Given the description of an element on the screen output the (x, y) to click on. 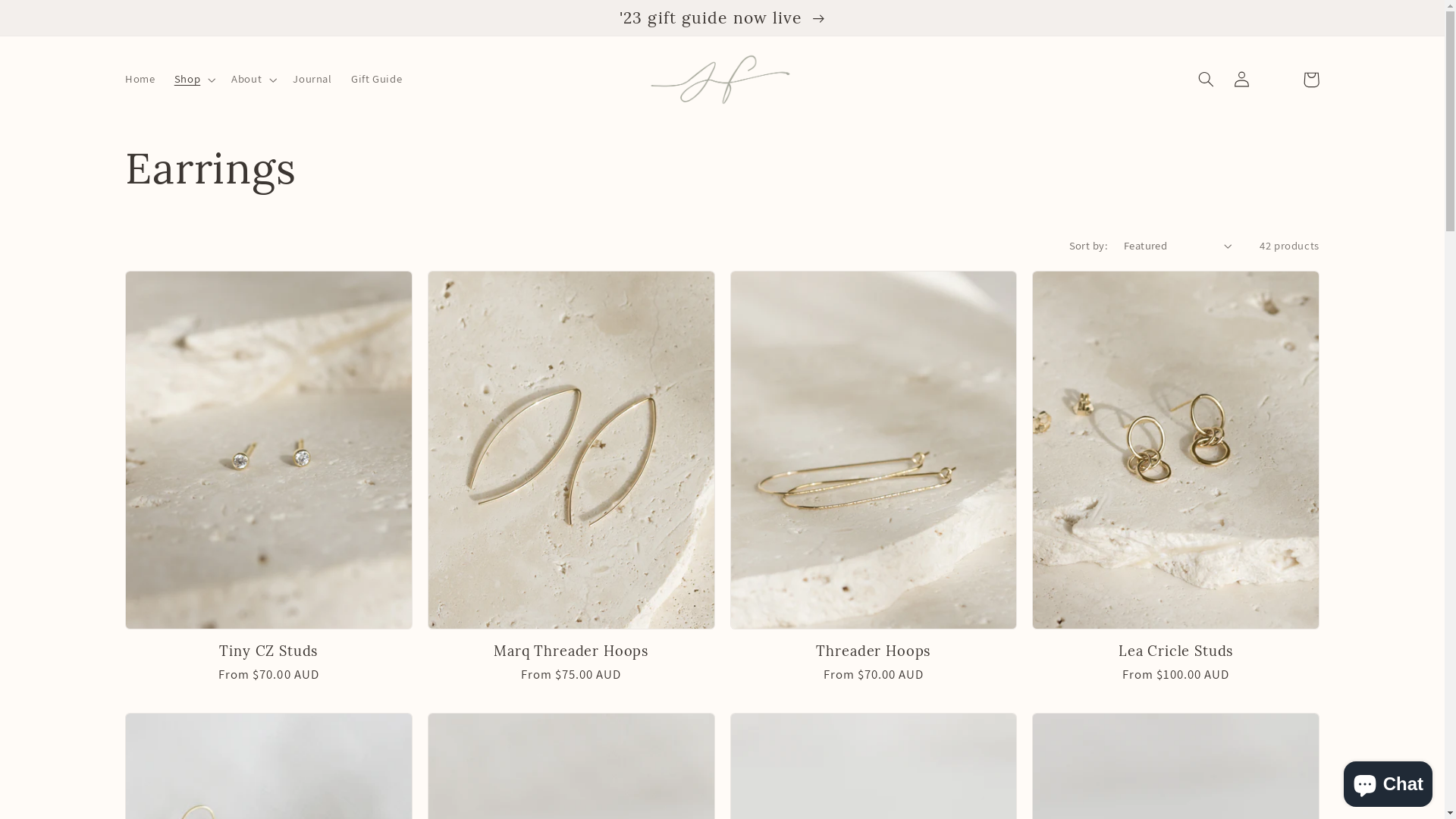
Journal Element type: text (312, 79)
Marq Threader Hoops Element type: text (571, 651)
Cart Element type: text (1310, 79)
Tiny CZ Studs Element type: text (268, 651)
Home Element type: text (139, 79)
Shopify online store chat Element type: hover (1388, 780)
Log in Element type: text (1240, 79)
Gift Guide Element type: text (376, 79)
Lea Cricle Studs Element type: text (1175, 651)
'23 gift guide now live Element type: text (722, 17)
Threader Hoops Element type: text (872, 651)
